Given the description of an element on the screen output the (x, y) to click on. 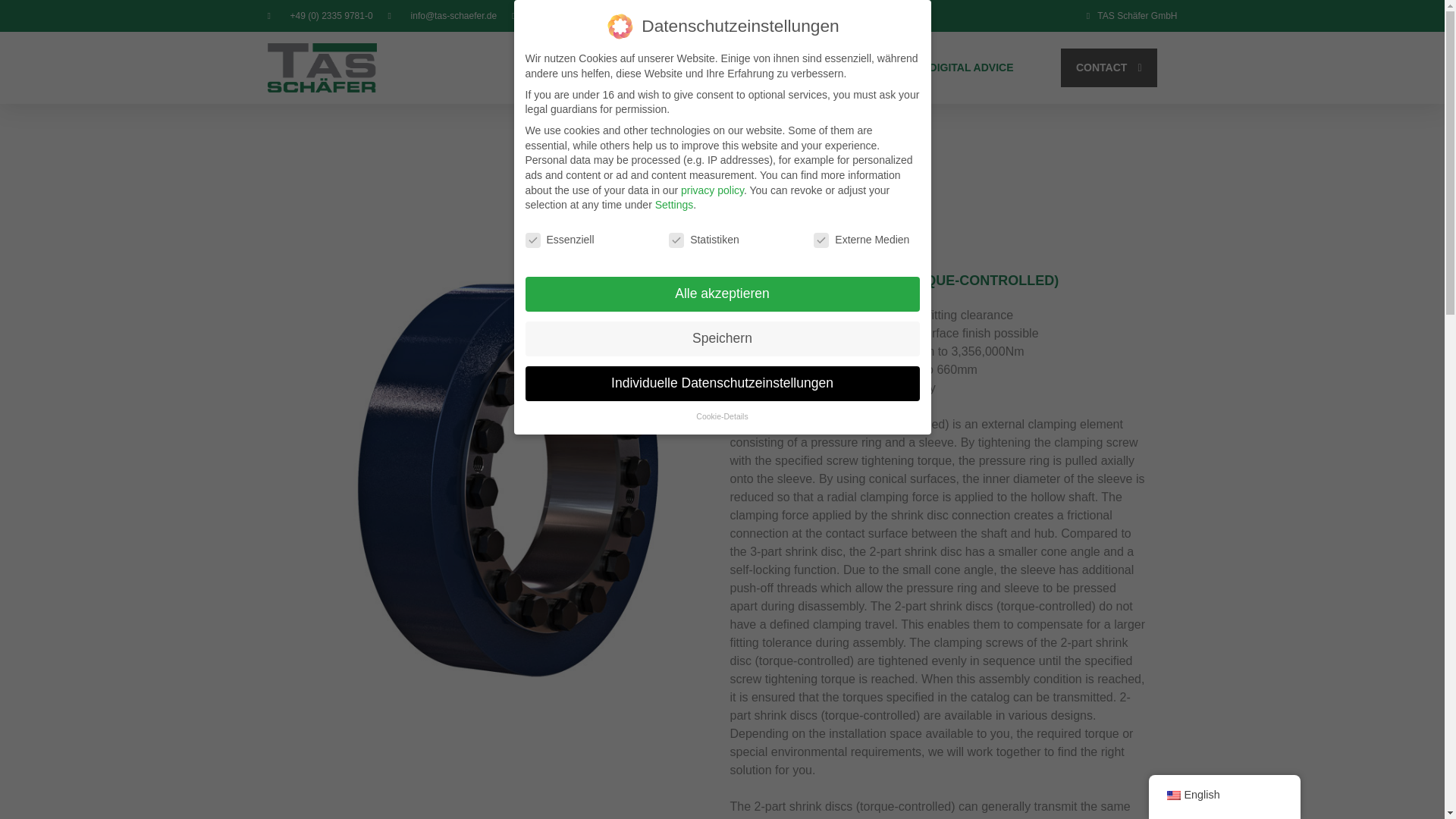
PRODUCTS (633, 67)
DIGITAL ADVICE (971, 67)
APPLICATIONS. (719, 67)
CONTACT (1109, 67)
English (1172, 795)
COMPANY (801, 67)
DOWNLOADS (878, 67)
